Given the description of an element on the screen output the (x, y) to click on. 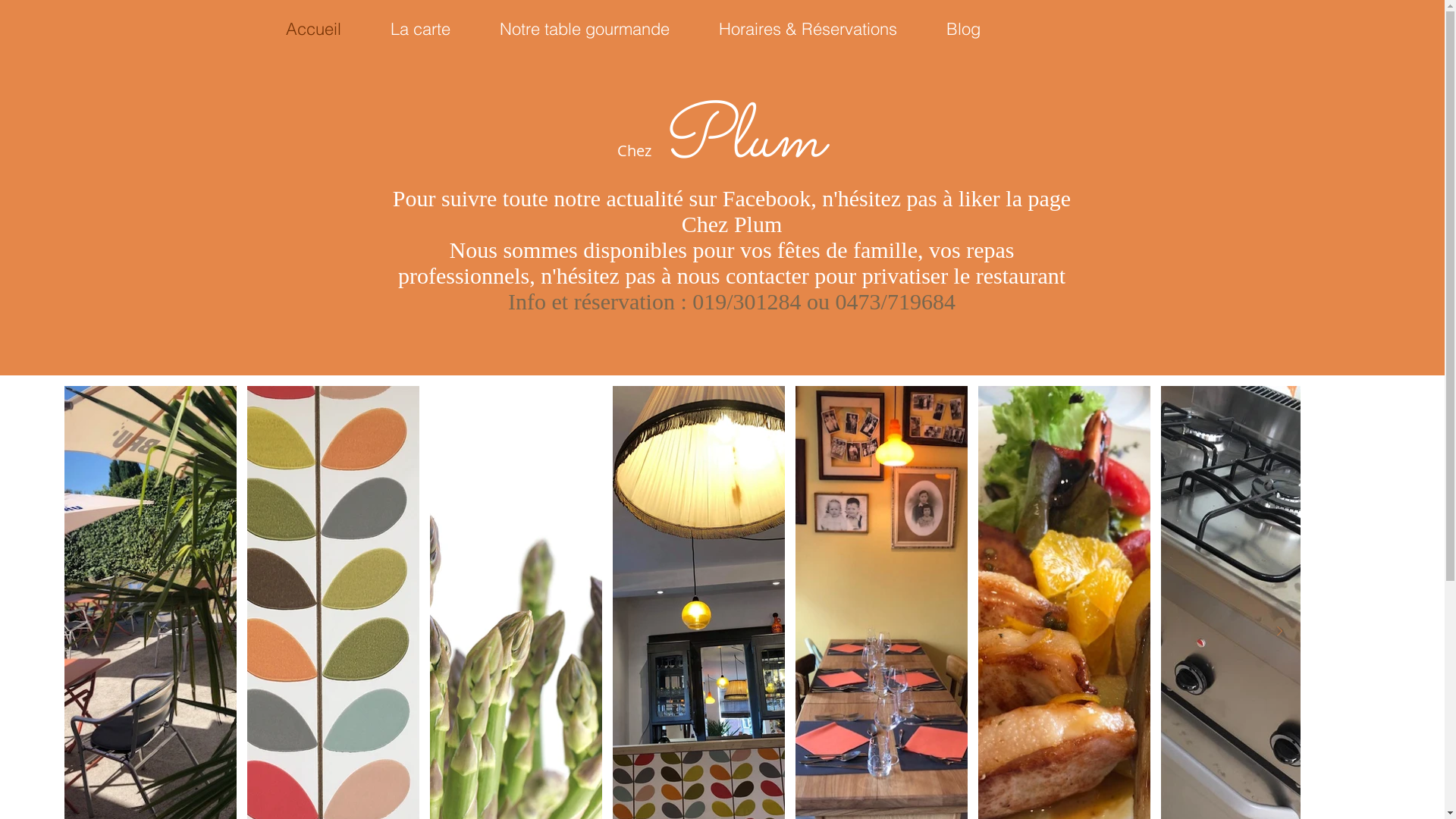
Plum Element type: text (740, 140)
Notre table gourmande Element type: text (583, 28)
La carte Element type: text (419, 28)
Chez Element type: text (634, 150)
Blog Element type: text (963, 28)
Accueil Element type: text (312, 28)
